Given the description of an element on the screen output the (x, y) to click on. 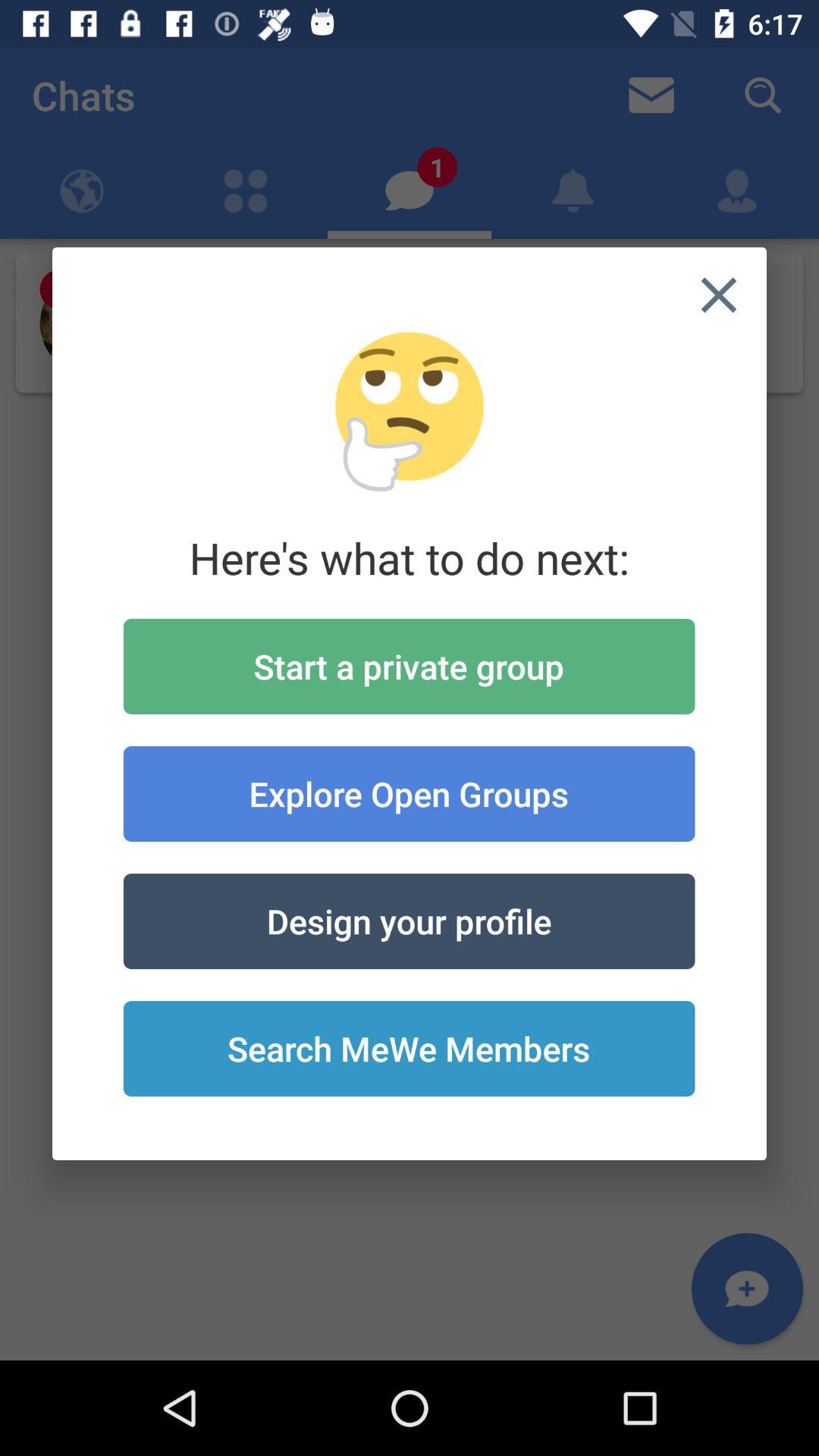
tap icon below start a private (409, 793)
